Given the description of an element on the screen output the (x, y) to click on. 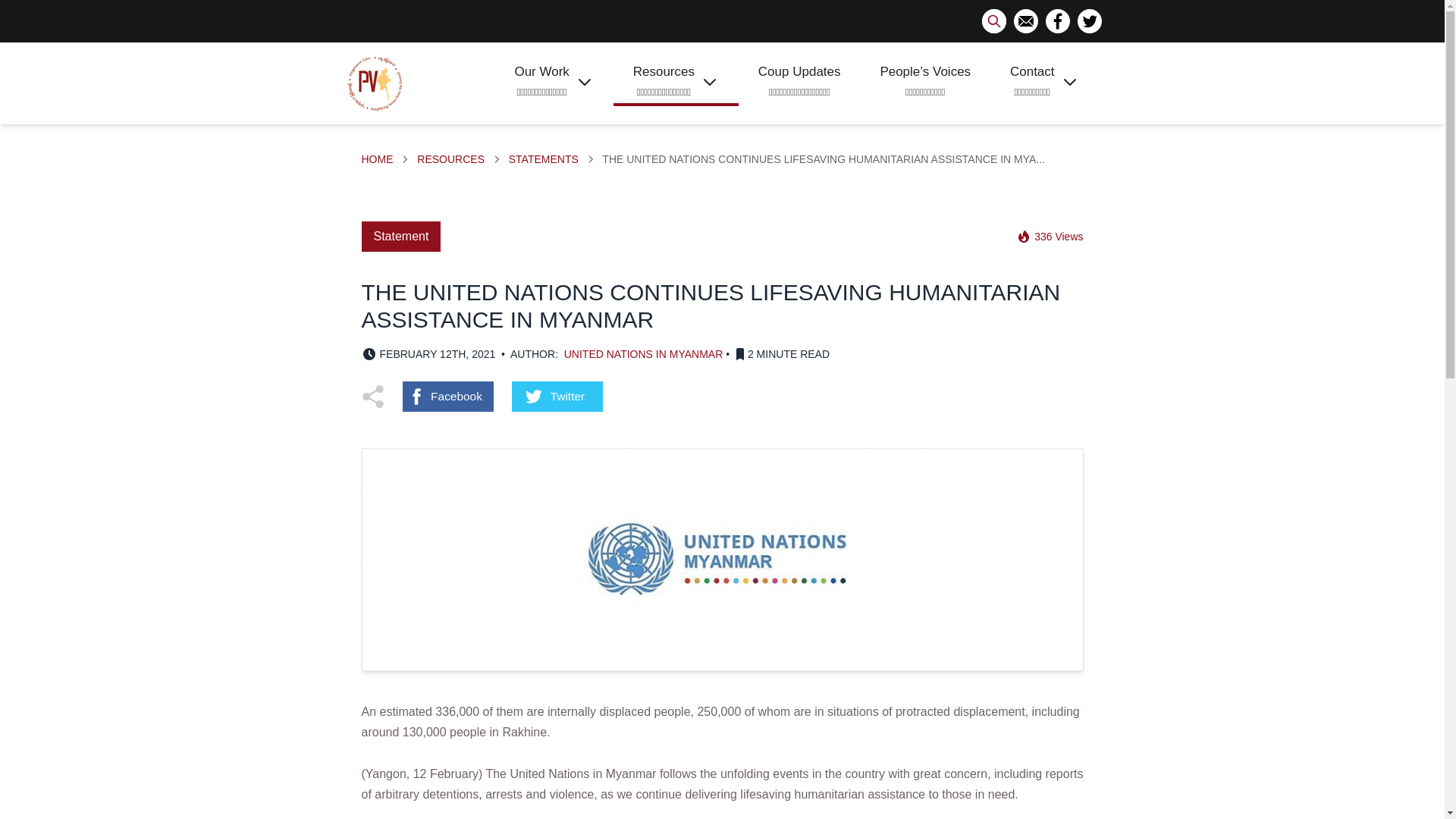
STATEMENTS (543, 159)
Join Progressive Voice on Facebook (1056, 21)
Statements (543, 159)
HOME (377, 159)
Follow Progressive Voice on Twitter (1088, 21)
Resources (450, 159)
UNITED NATIONS IN MYANMAR (643, 354)
Statement (401, 236)
Email Progressive Voice (1024, 21)
RESOURCES (450, 159)
Progressive Voice - Home Page (374, 83)
Share on Twitter (556, 396)
Share on Facebook (447, 396)
Home (377, 159)
